Given the description of an element on the screen output the (x, y) to click on. 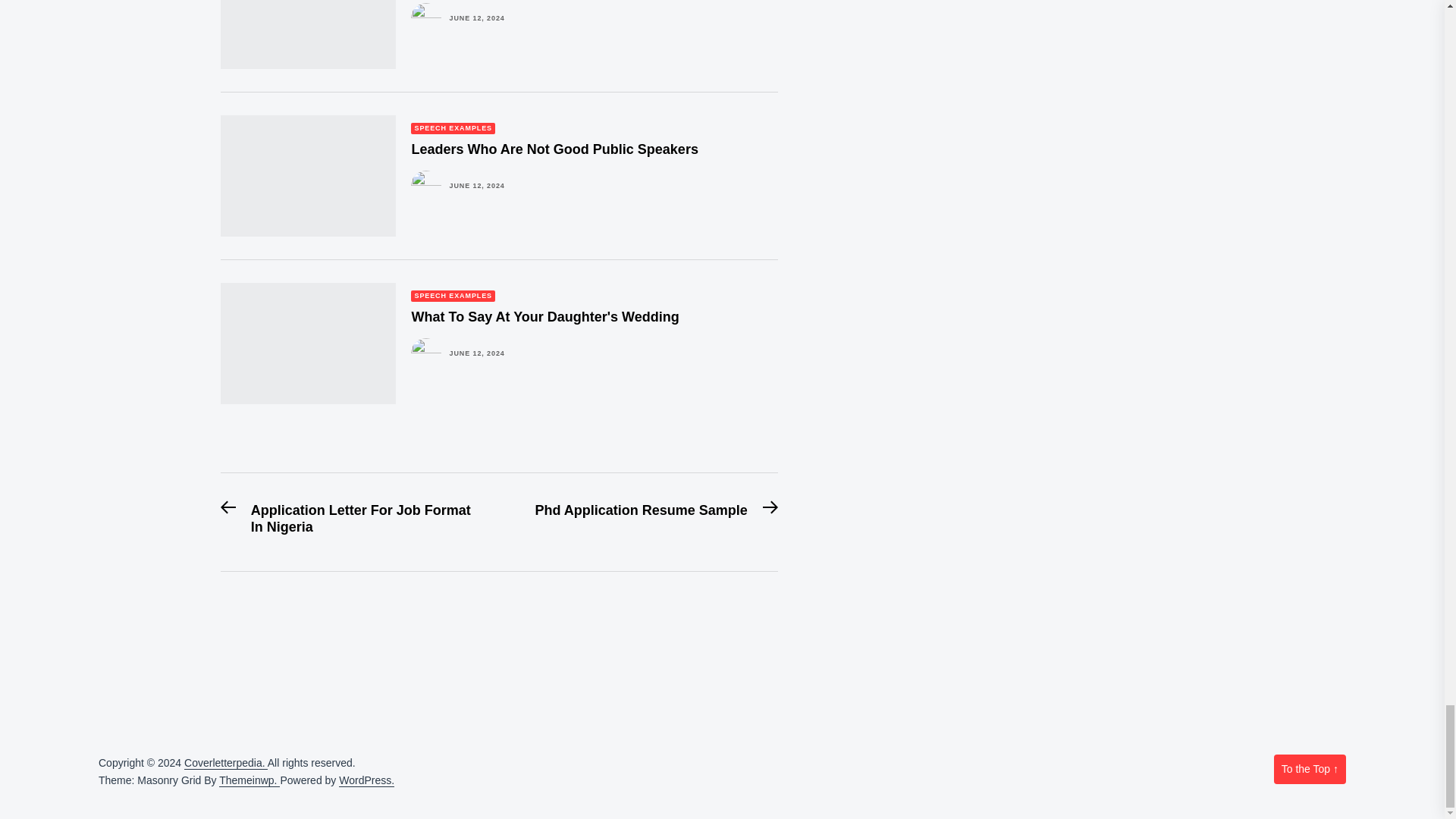
WordPress (366, 780)
Themeinwp (249, 780)
Coverletterpedia (225, 762)
